Given the description of an element on the screen output the (x, y) to click on. 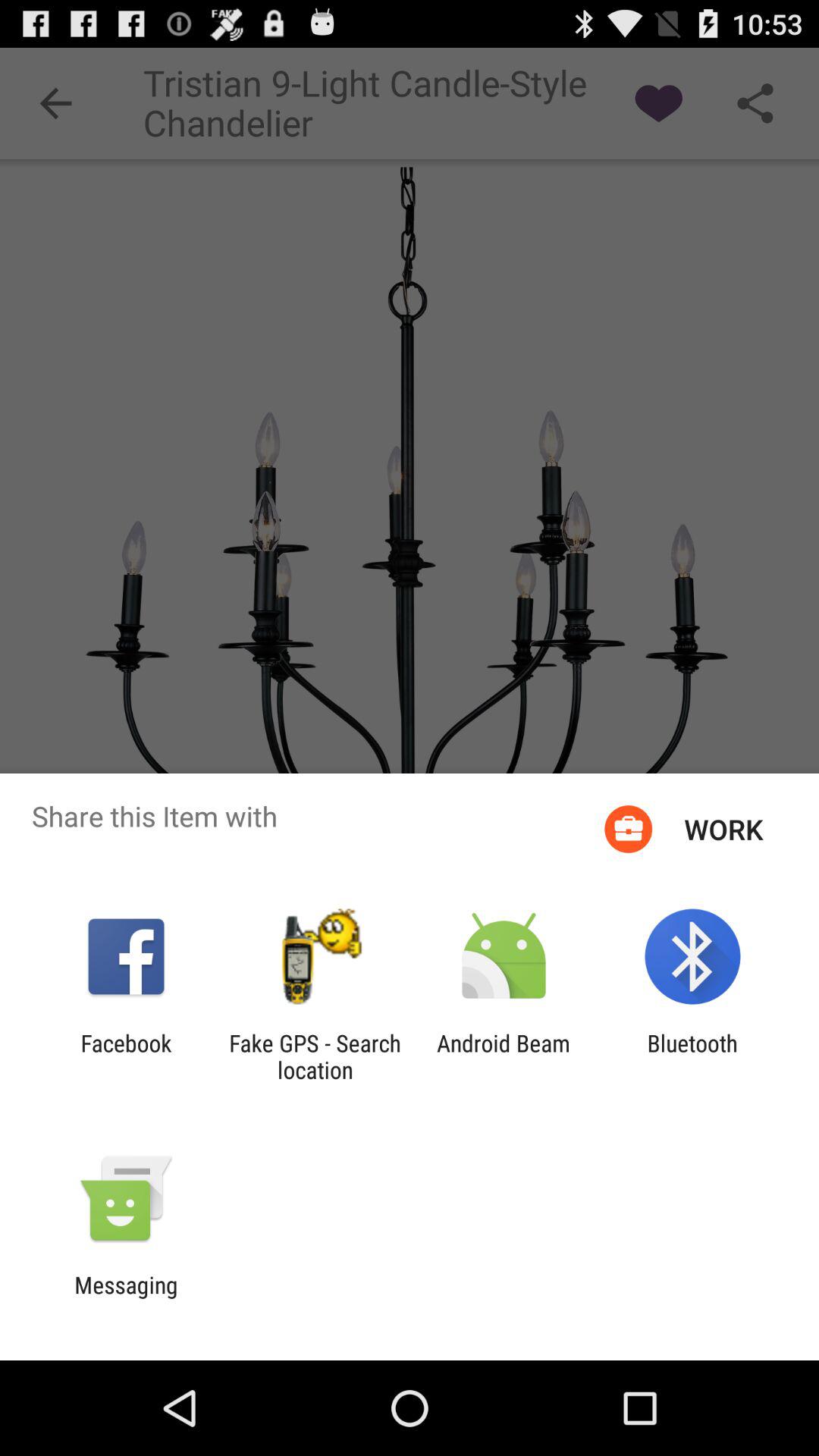
press messaging icon (126, 1298)
